Given the description of an element on the screen output the (x, y) to click on. 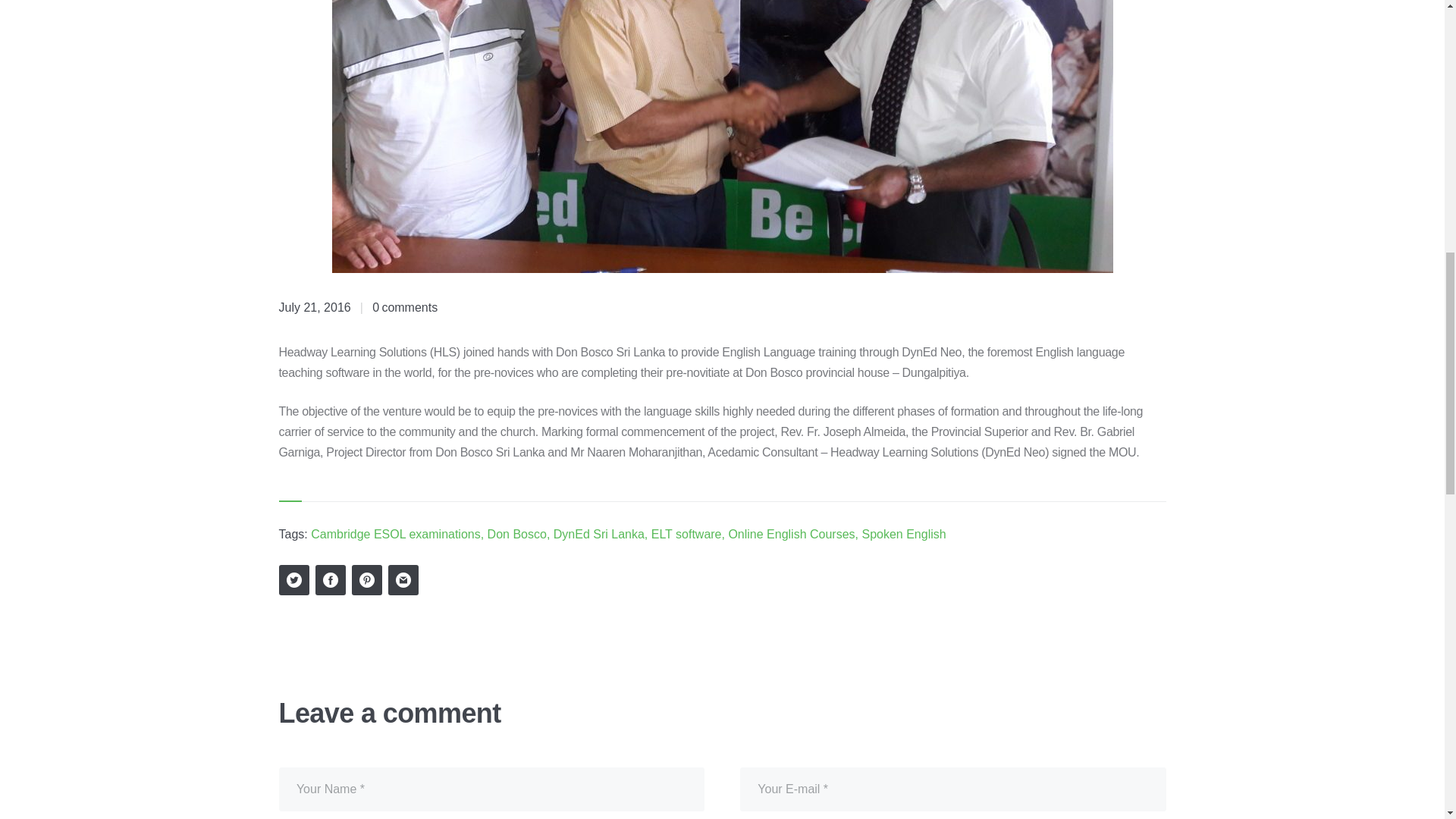
0comments (405, 307)
Online English Courses (791, 533)
ELT software (686, 533)
DynEd Sri Lanka (599, 533)
Spoken English (902, 533)
Cambridge ESOL examinations (395, 533)
July 21, 2016 (314, 307)
Don Bosco (517, 533)
